Given the description of an element on the screen output the (x, y) to click on. 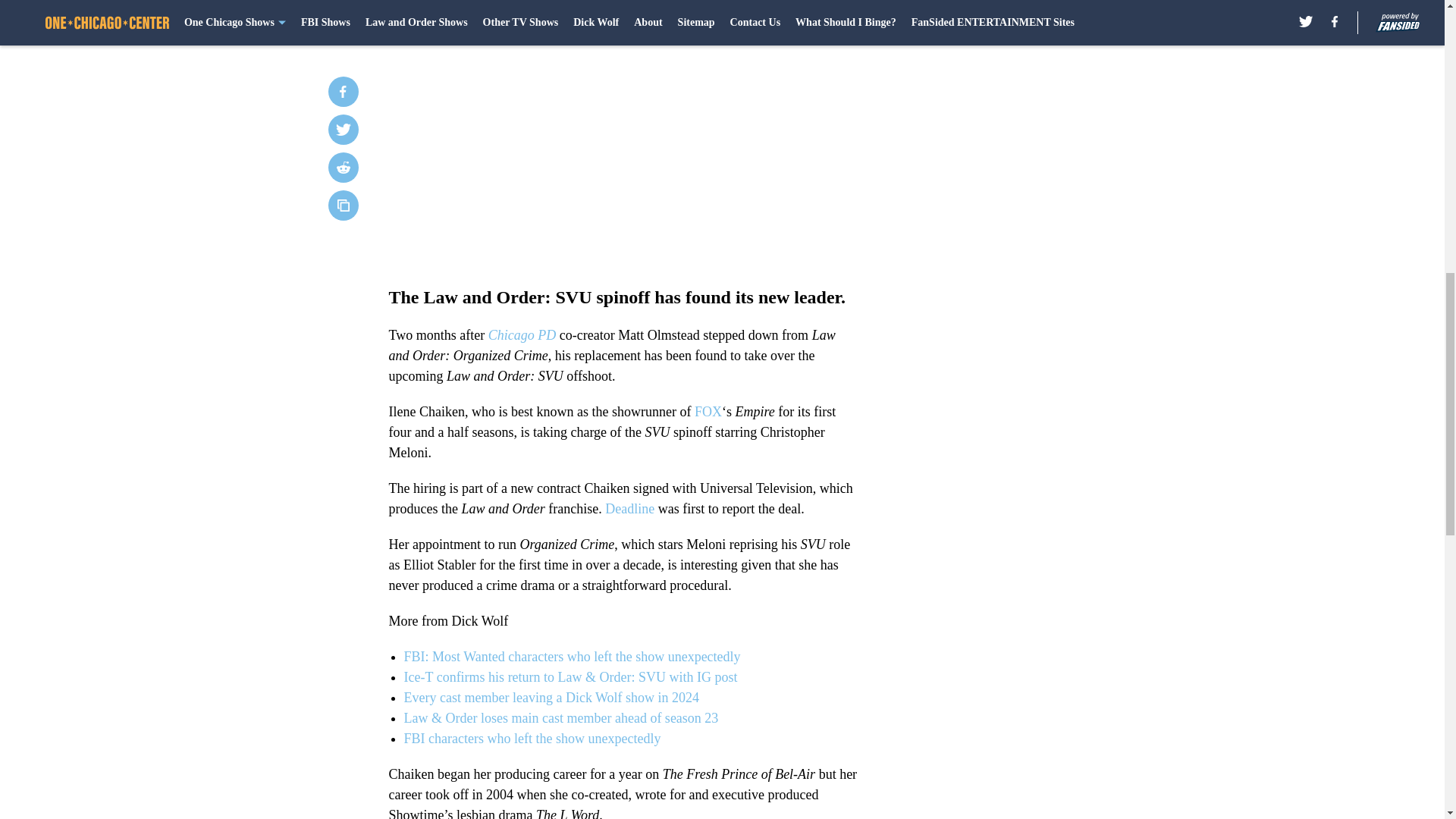
FBI characters who left the show unexpectedly (532, 738)
FBI: Most Wanted characters who left the show unexpectedly (571, 656)
Deadline (629, 508)
FOX (708, 411)
Chicago PD (521, 335)
Every cast member leaving a Dick Wolf show in 2024 (550, 697)
